Given the description of an element on the screen output the (x, y) to click on. 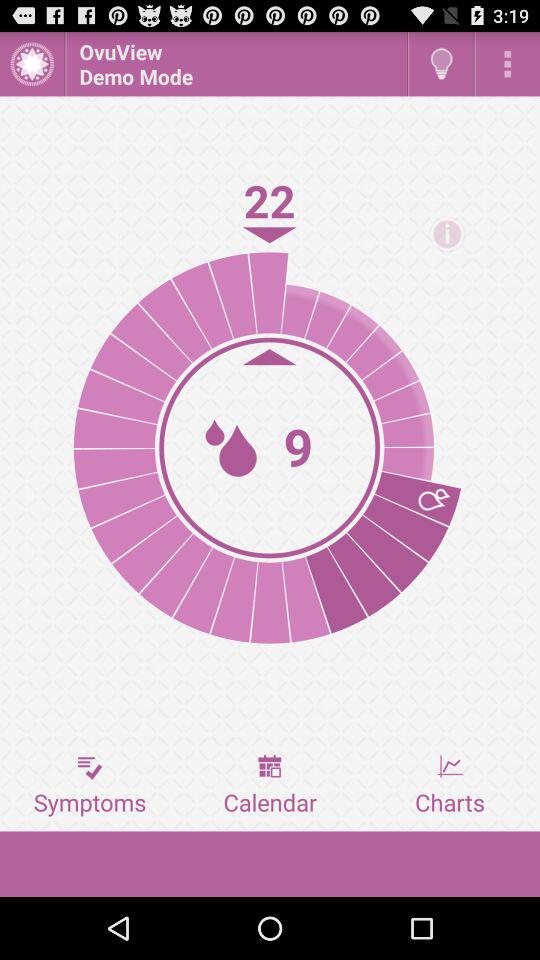
launch calendar icon (270, 785)
